Given the description of an element on the screen output the (x, y) to click on. 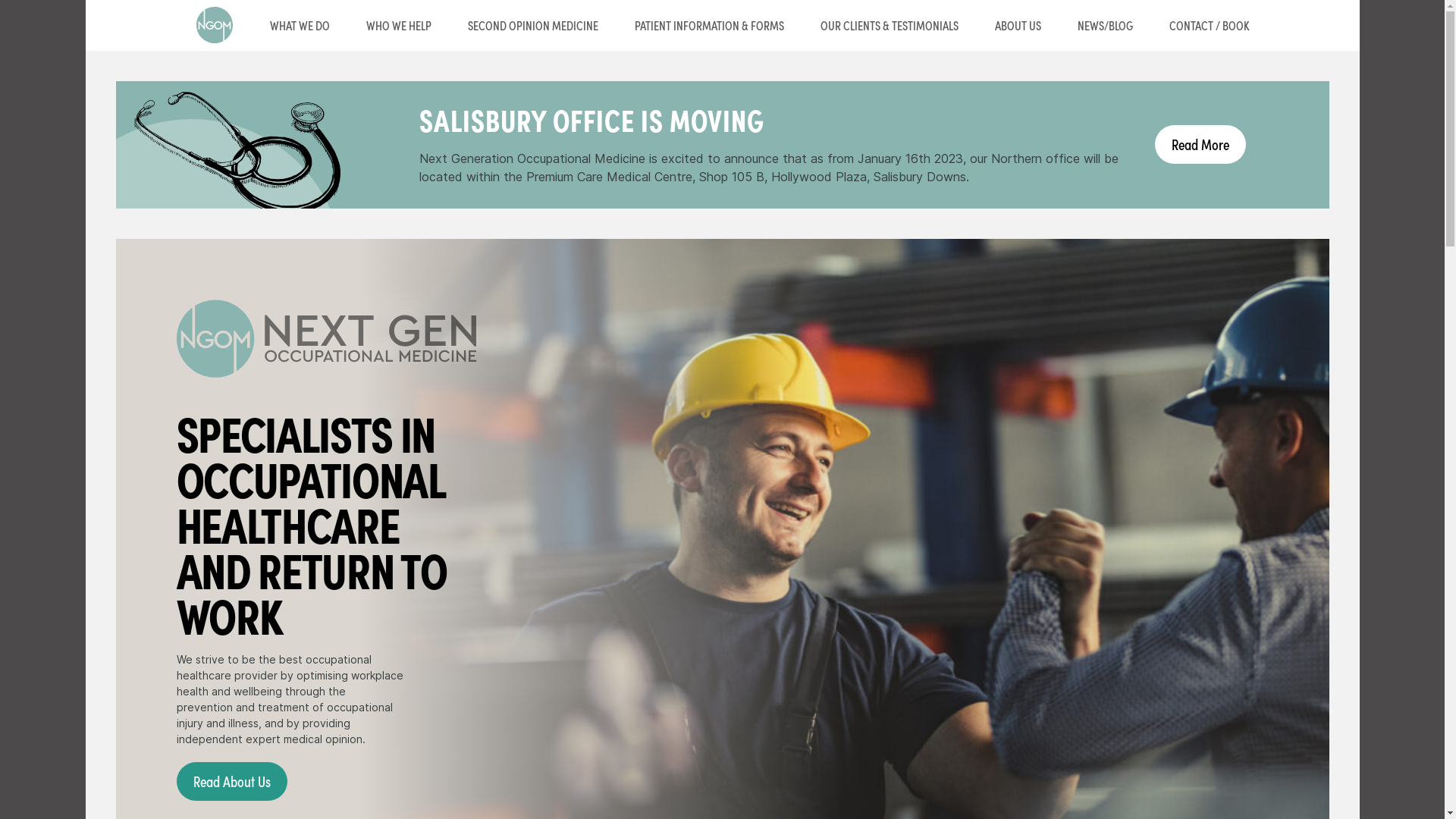
WHAT WE DO Element type: text (299, 25)
PATIENT INFORMATION & FORMS Element type: text (708, 25)
OUR CLIENTS & TESTIMONIALS Element type: text (889, 25)
CONTACT / BOOK Element type: text (1209, 25)
NEWS/BLOG Element type: text (1104, 25)
WHO WE HELP Element type: text (397, 25)
ABOUT US Element type: text (1017, 25)
Read About Us Element type: text (230, 781)
SECOND OPINION MEDICINE Element type: text (531, 25)
Read More Element type: text (1199, 144)
